Given the description of an element on the screen output the (x, y) to click on. 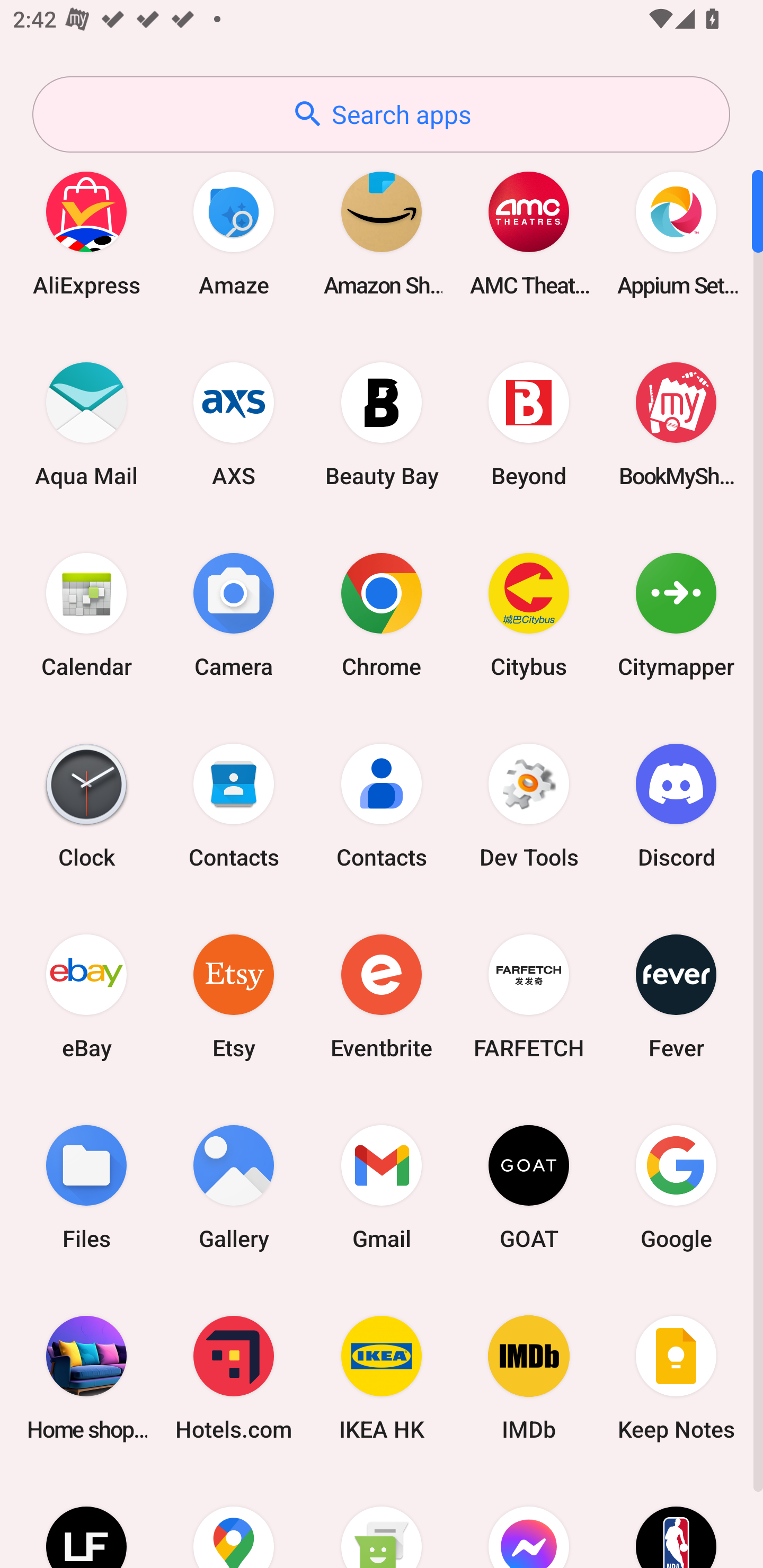
Citymapper (676, 614)
